Given the description of an element on the screen output the (x, y) to click on. 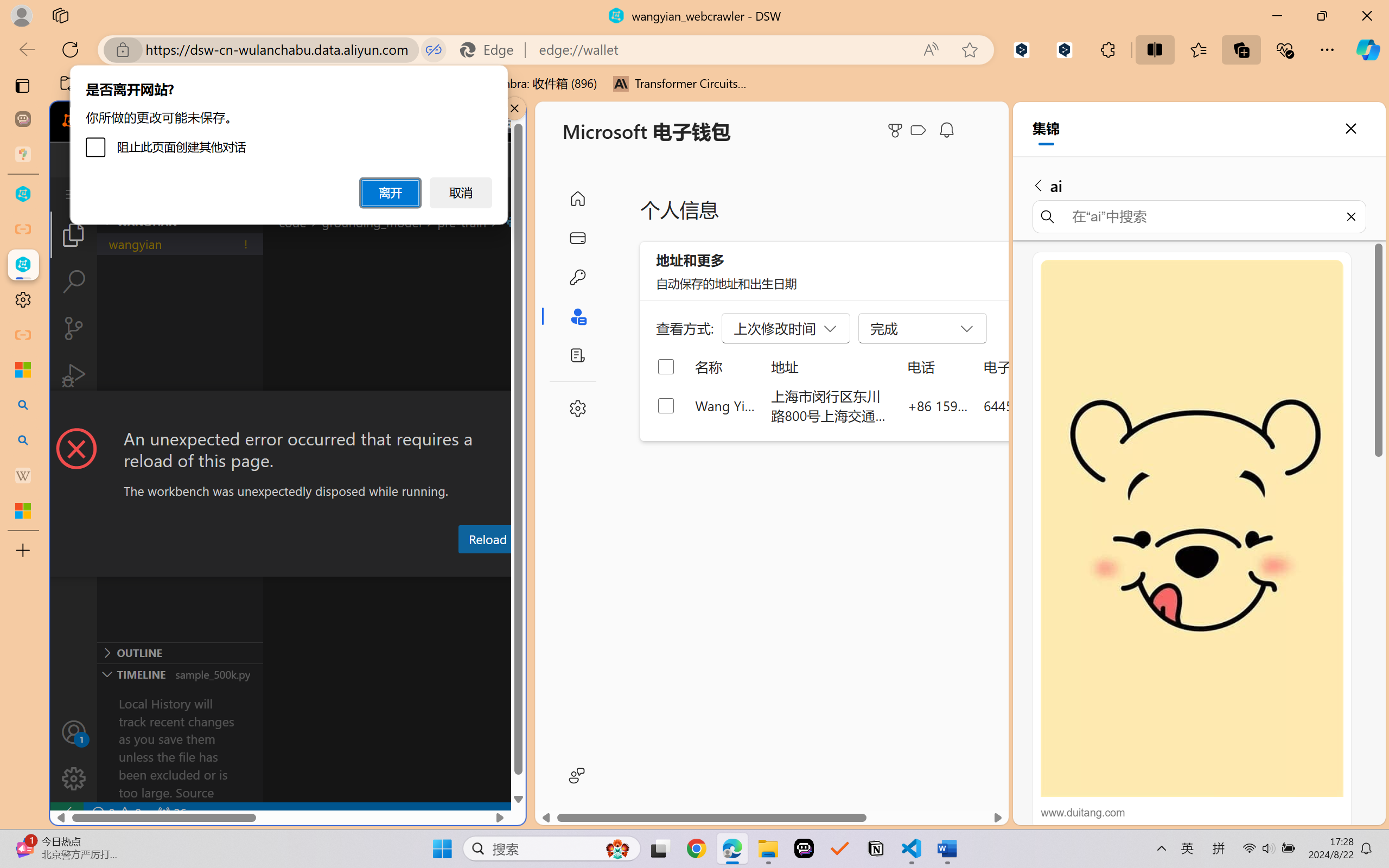
Extensions (Ctrl+Shift+X) (73, 422)
Outline Section (179, 652)
remote (66, 812)
No Problems (115, 812)
Close Dialog (520, 410)
